Given the description of an element on the screen output the (x, y) to click on. 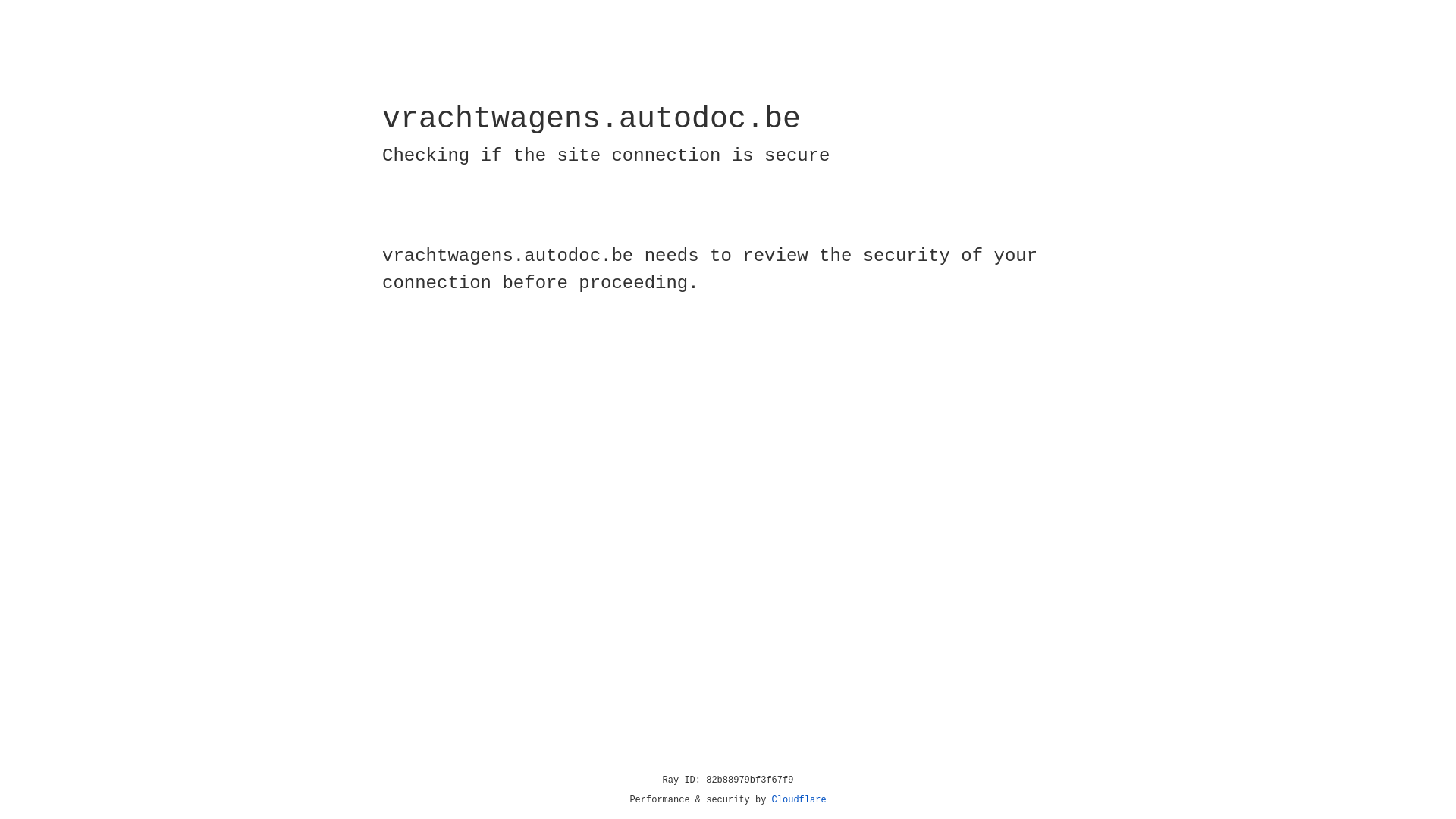
Cloudflare Element type: text (798, 799)
